Given the description of an element on the screen output the (x, y) to click on. 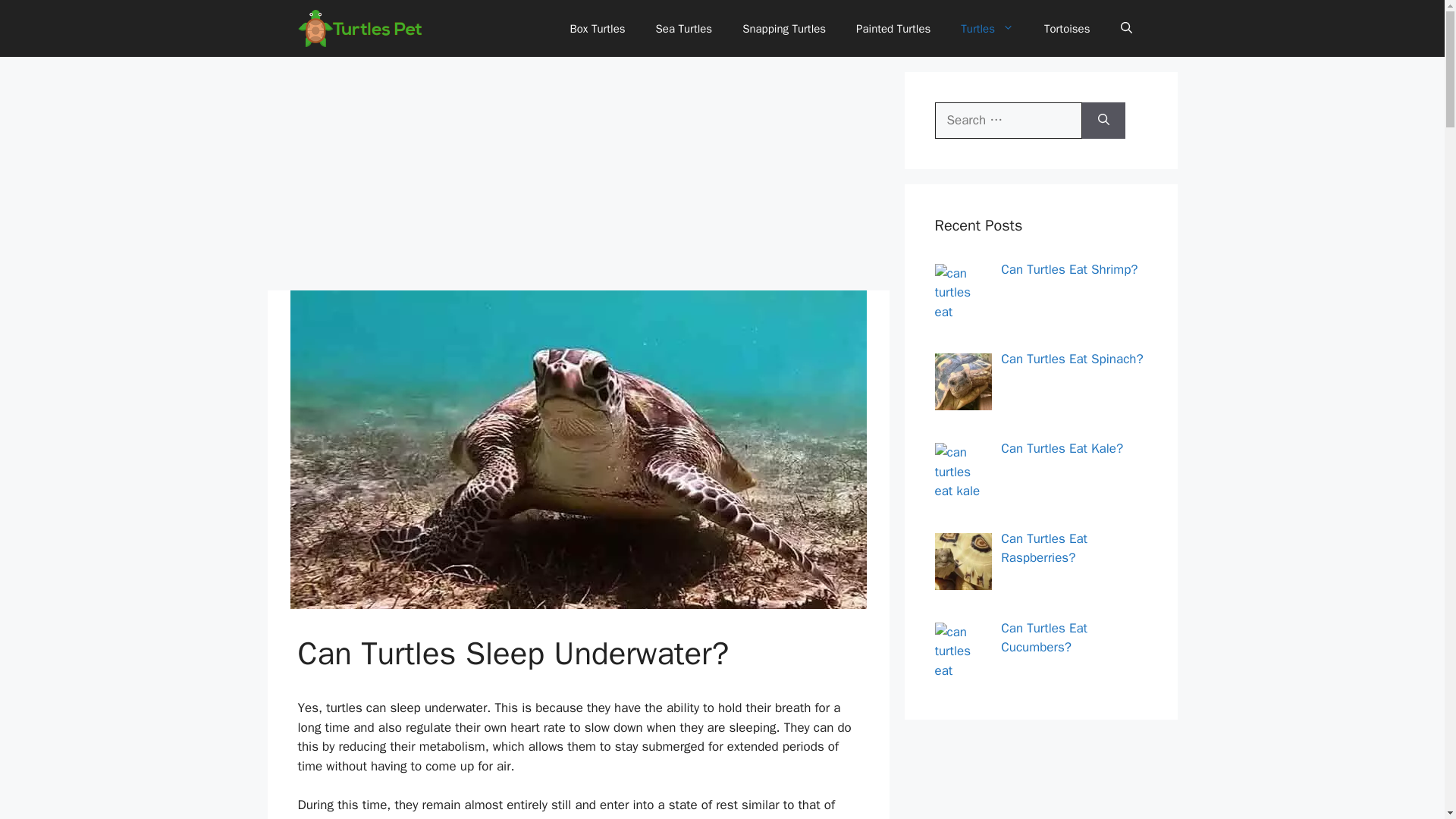
Can Turtles Eat Cucumbers? (1044, 637)
Advertisement (577, 178)
Box Turtles (597, 28)
Search for: (1007, 120)
Can Turtles Eat Raspberries? (1044, 548)
Sea Turtles (684, 28)
Can Turtles Eat Spinach? (1071, 358)
Can Turtles Eat Kale? (1061, 448)
Turtles (986, 28)
Turtles Pet (359, 28)
Tortoises (1067, 28)
Snapping Turtles (783, 28)
Painted Turtles (892, 28)
Can Turtles Eat Shrimp? (1069, 268)
